Given the description of an element on the screen output the (x, y) to click on. 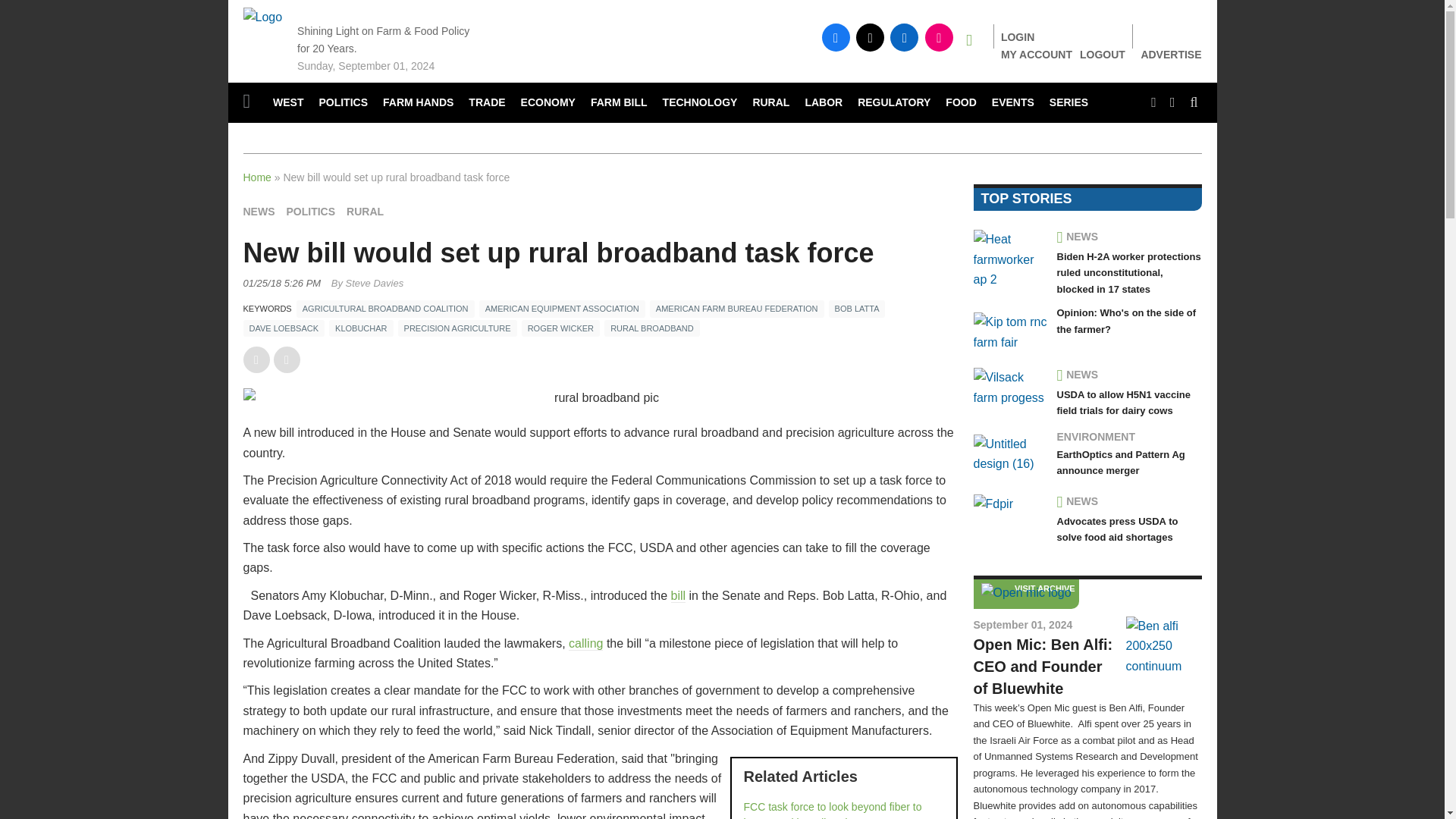
RURAL (770, 102)
WEST (287, 102)
FARM HANDS (418, 102)
LOGOUT (1102, 54)
EVENTS (1013, 102)
LOGIN (1017, 37)
FOOD (960, 102)
MY ACCOUNT (1036, 54)
FARM BILL (619, 102)
TRADE (486, 102)
